Given the description of an element on the screen output the (x, y) to click on. 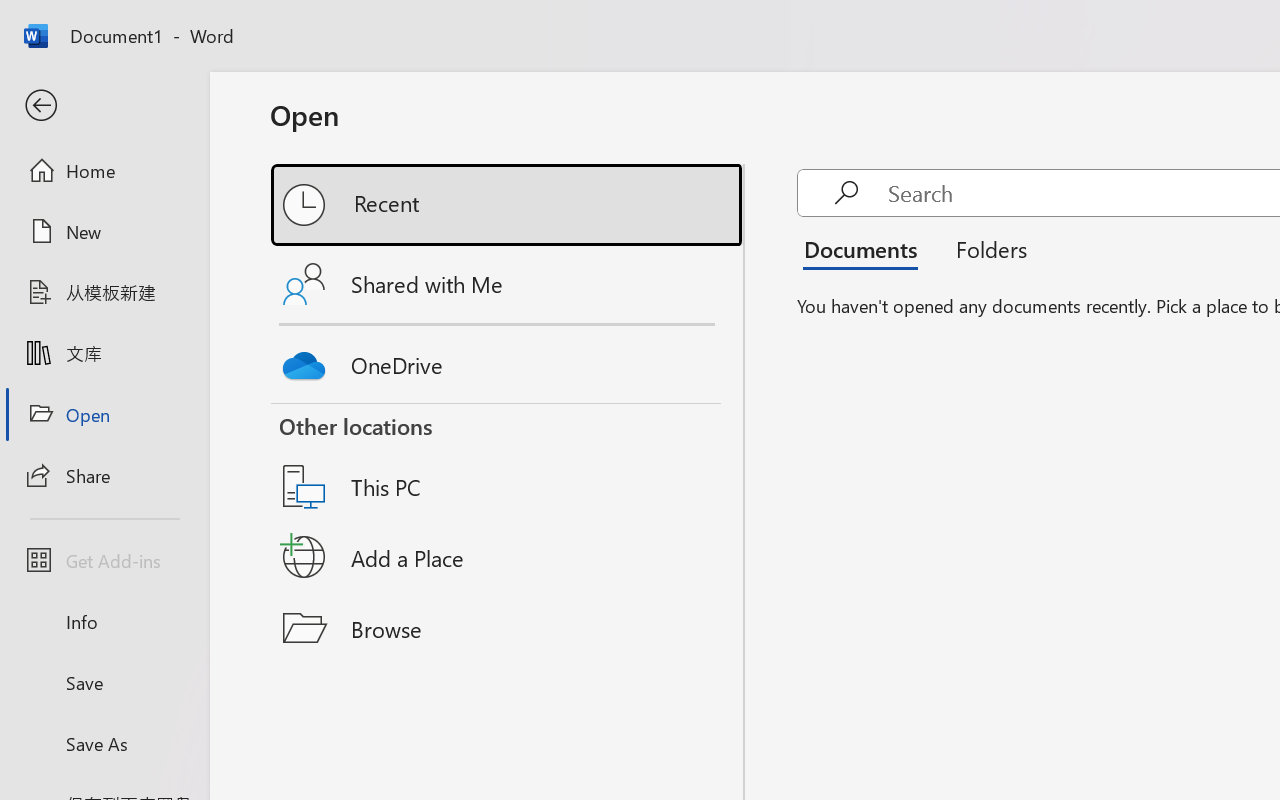
Get Add-ins (104, 560)
Save As (104, 743)
Info (104, 621)
New (104, 231)
Recent (507, 205)
Documents (866, 248)
OneDrive (507, 359)
This PC (507, 461)
